Given the description of an element on the screen output the (x, y) to click on. 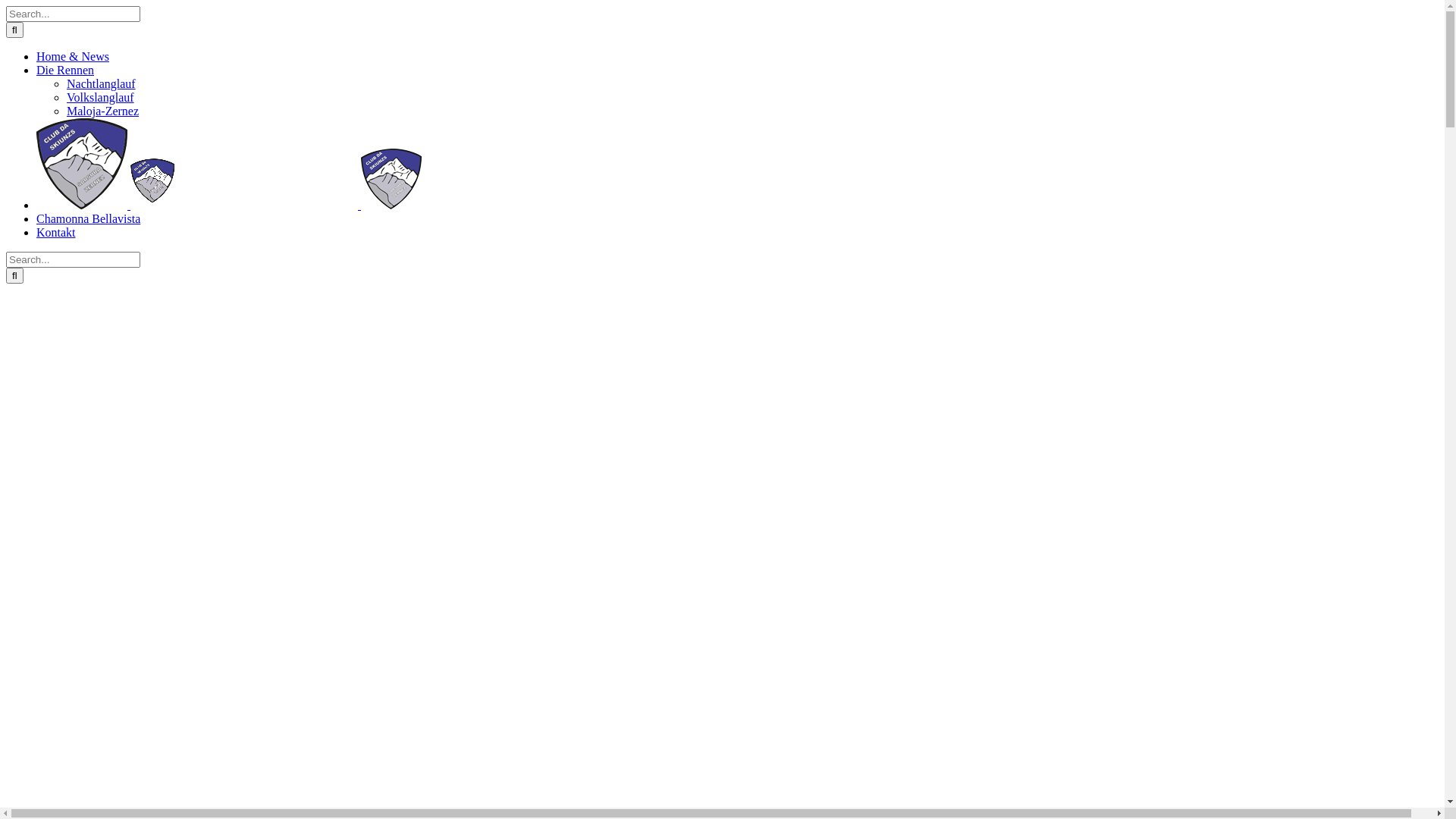
Maloja-Zernez Element type: text (102, 110)
Home & News Element type: text (72, 56)
Volkslanglauf Element type: text (100, 97)
Kontakt Element type: text (55, 231)
Nachtlanglauf Element type: text (100, 83)
Die Rennen Element type: text (65, 69)
Chamonna Bellavista Element type: text (88, 218)
Skip to content Element type: text (5, 5)
